Given the description of an element on the screen output the (x, y) to click on. 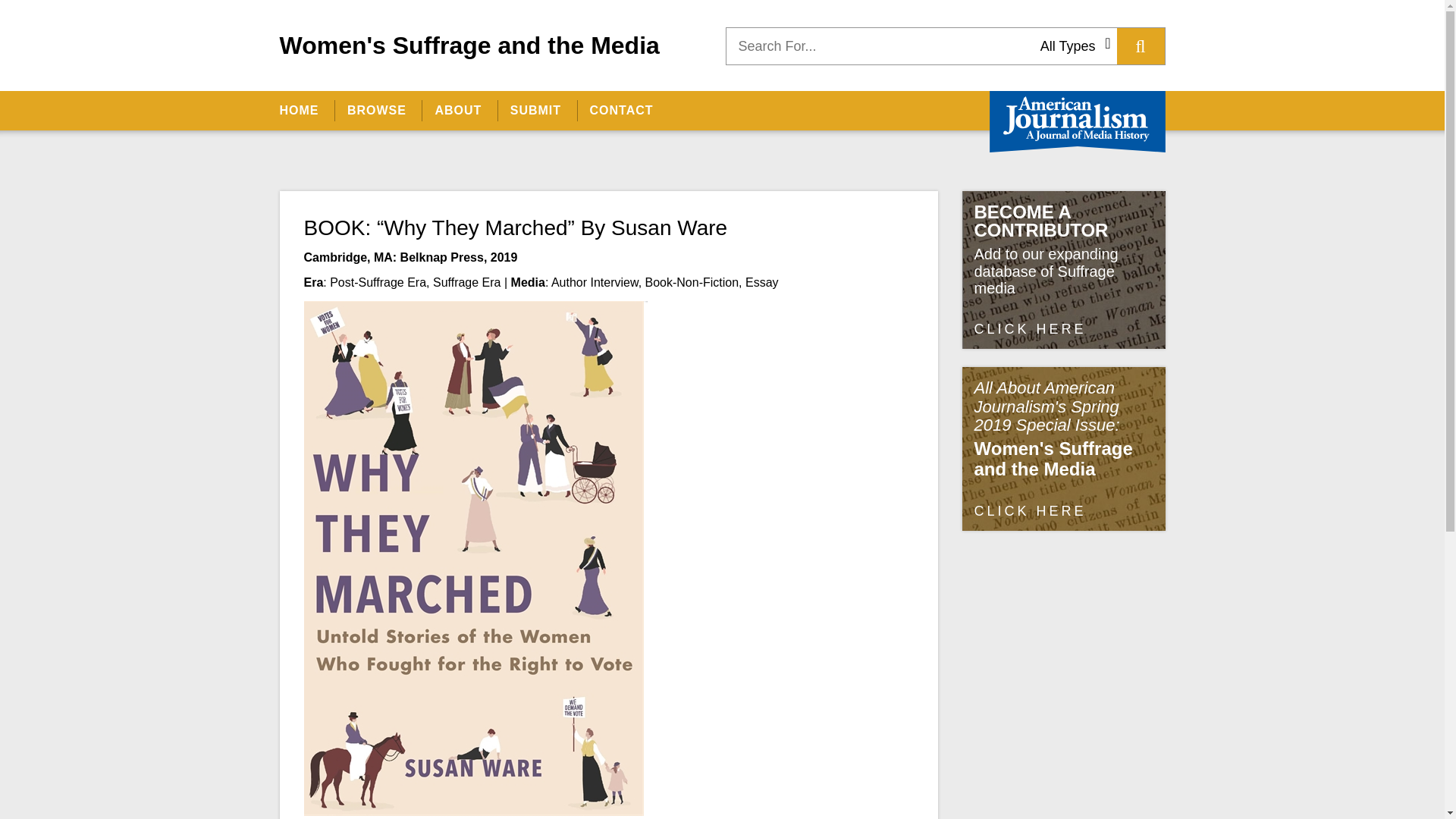
Women's Suffrage and the Media (469, 45)
HOME (304, 110)
ABOUT (457, 110)
SUBMIT (535, 110)
CONTACT (620, 110)
BROWSE (376, 110)
American Journalism: A Journal of Media History (1076, 121)
